Given the description of an element on the screen output the (x, y) to click on. 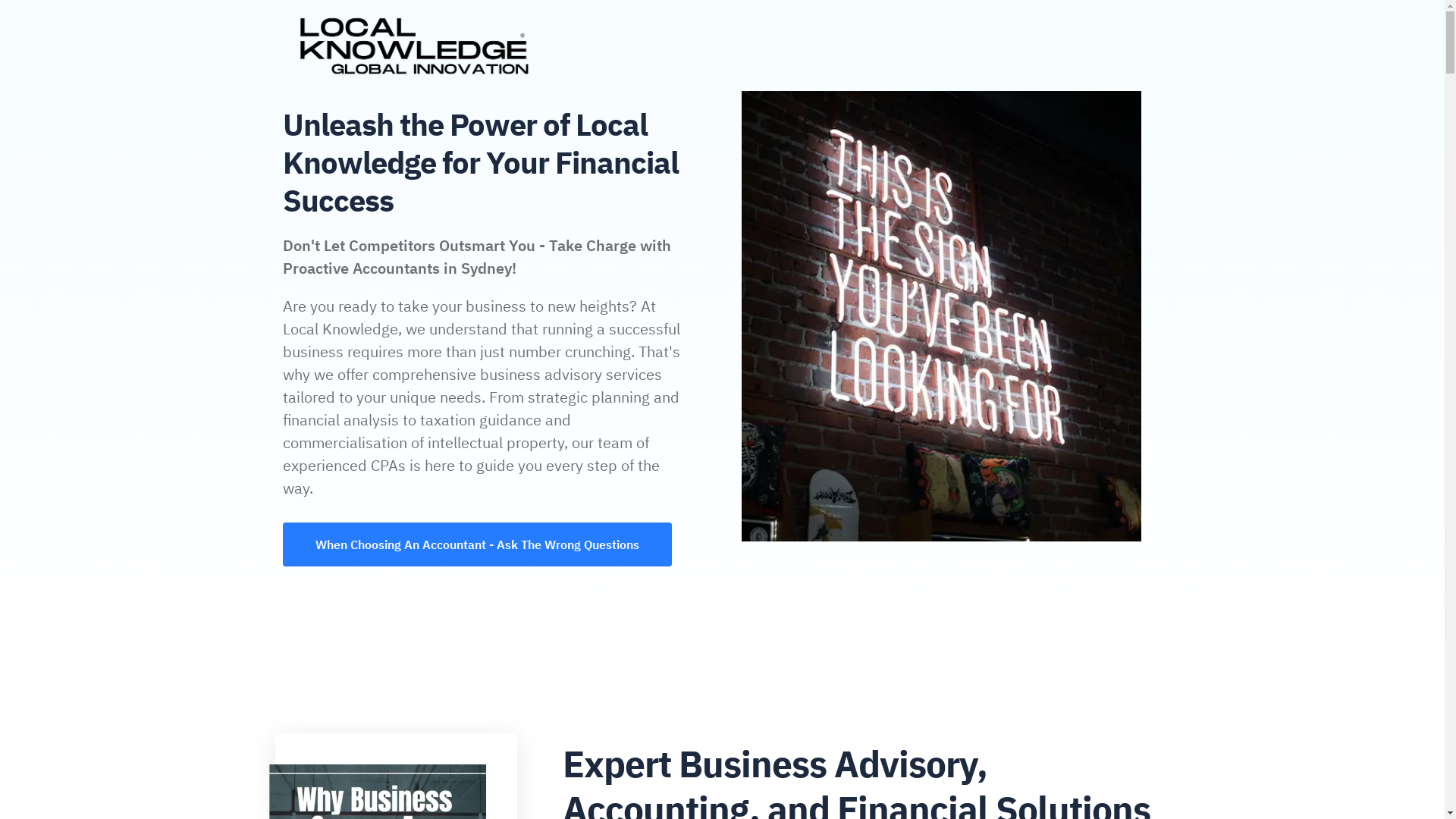
When Choosing An Accountant - Ask The Wrong Questions Element type: text (477, 544)
